Given the description of an element on the screen output the (x, y) to click on. 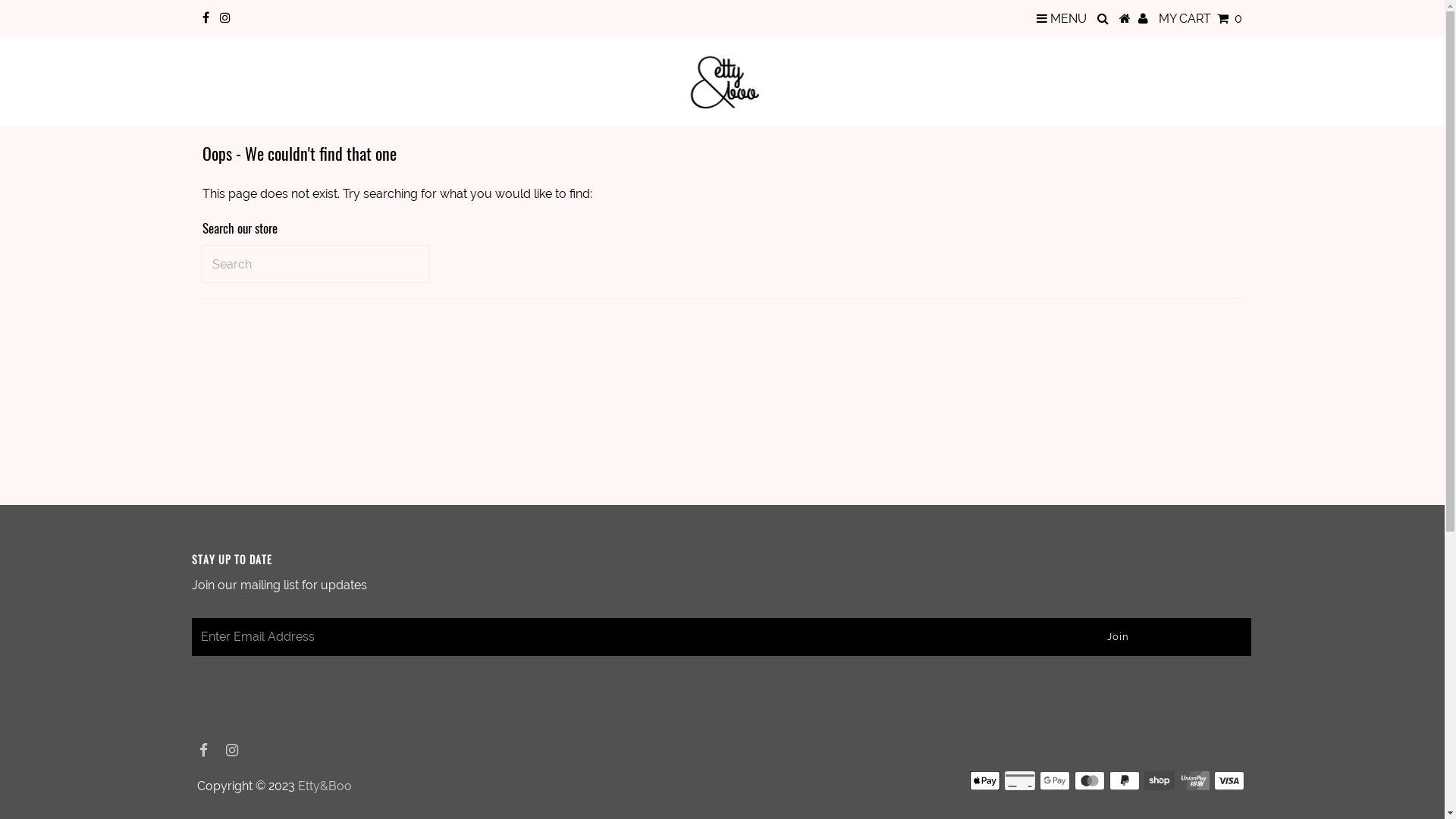
MY CART    0 Element type: text (1200, 18)
Join Element type: text (1117, 636)
Etty&Boo Element type: text (324, 785)
